Given the description of an element on the screen output the (x, y) to click on. 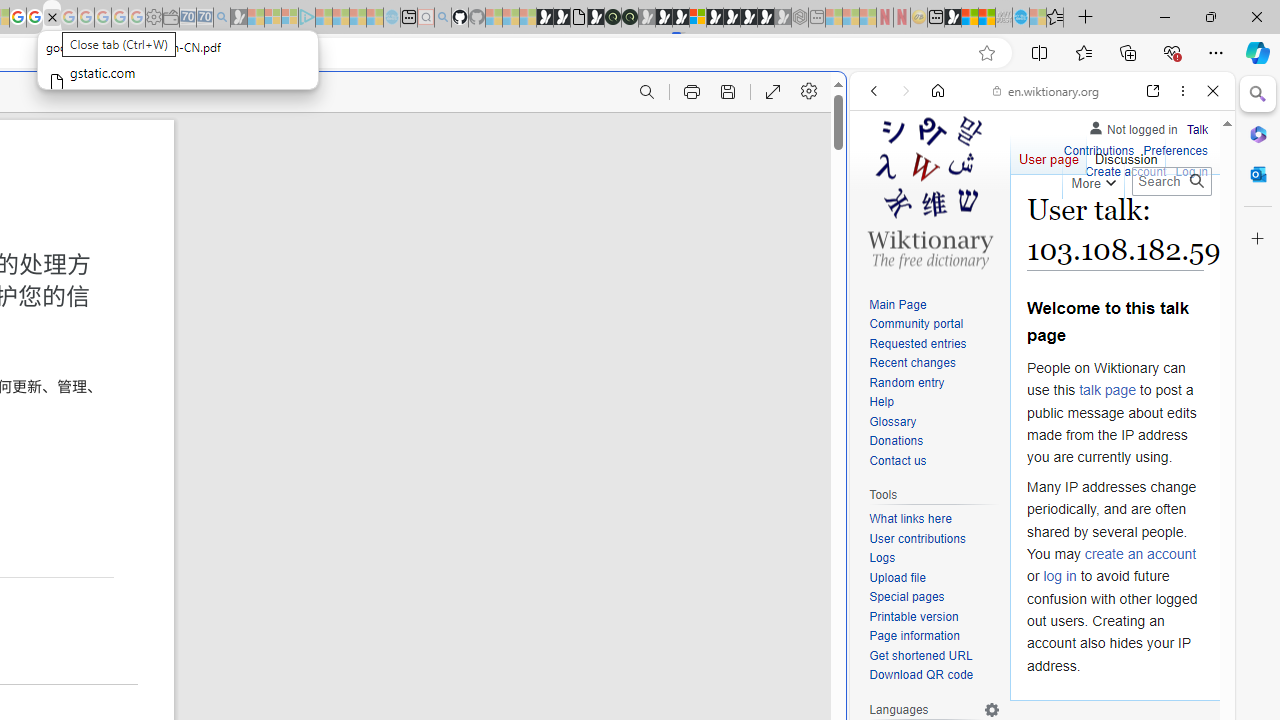
User contributions (934, 539)
Requested entries (934, 344)
More options (1182, 91)
What links here (934, 519)
Find (Ctrl + F) (646, 92)
Contact us (934, 461)
Class: b_serphb (1190, 229)
Close Outlook pane (1258, 174)
WEB   (882, 228)
Settings - Sleeping (153, 17)
Save (Ctrl+S) (728, 92)
Requested entries (917, 343)
Page information (934, 637)
